Given the description of an element on the screen output the (x, y) to click on. 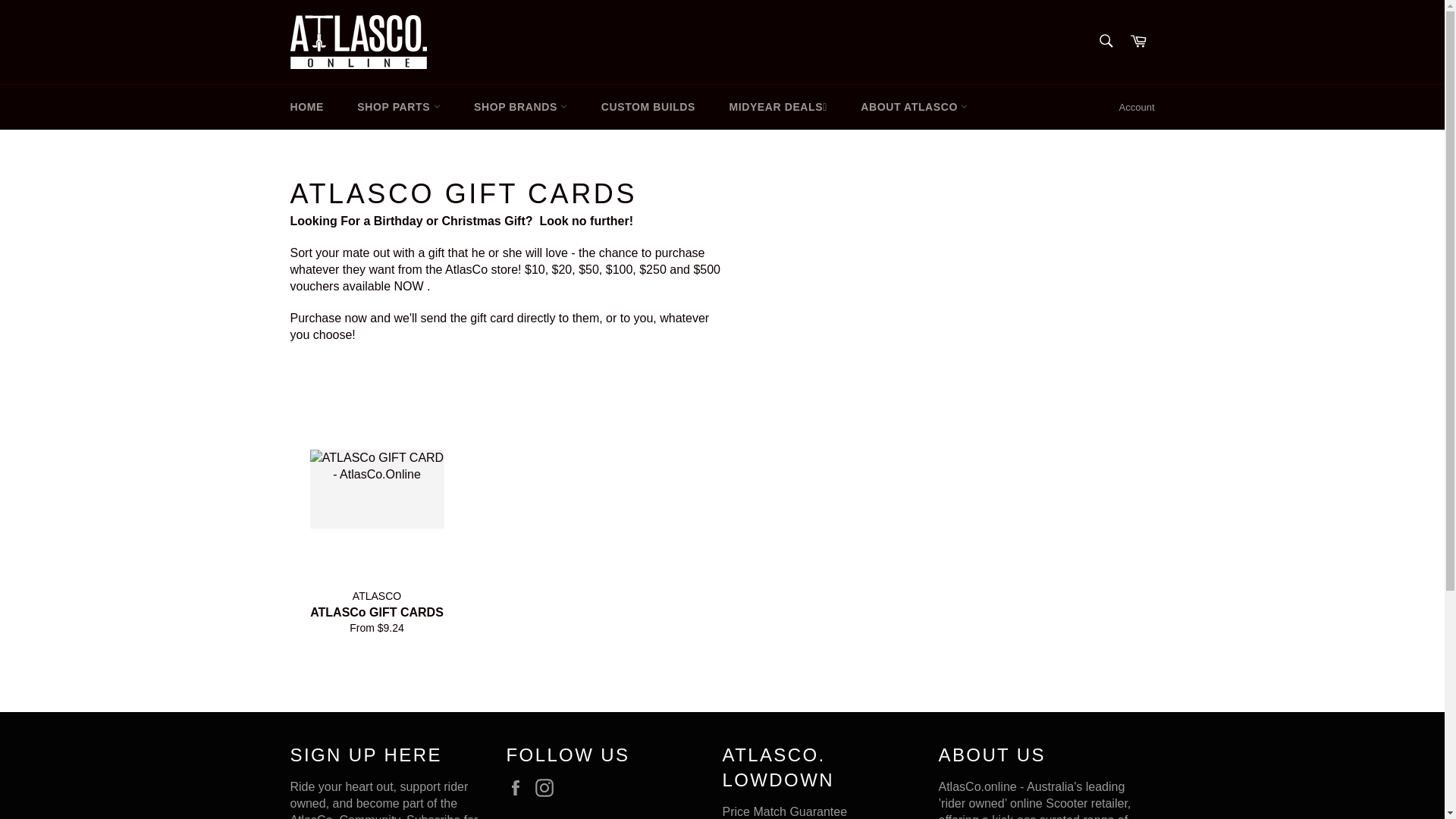
AtlasCo.Online on Facebook (519, 787)
AtlasCo.Online on Instagram (547, 787)
